Given the description of an element on the screen output the (x, y) to click on. 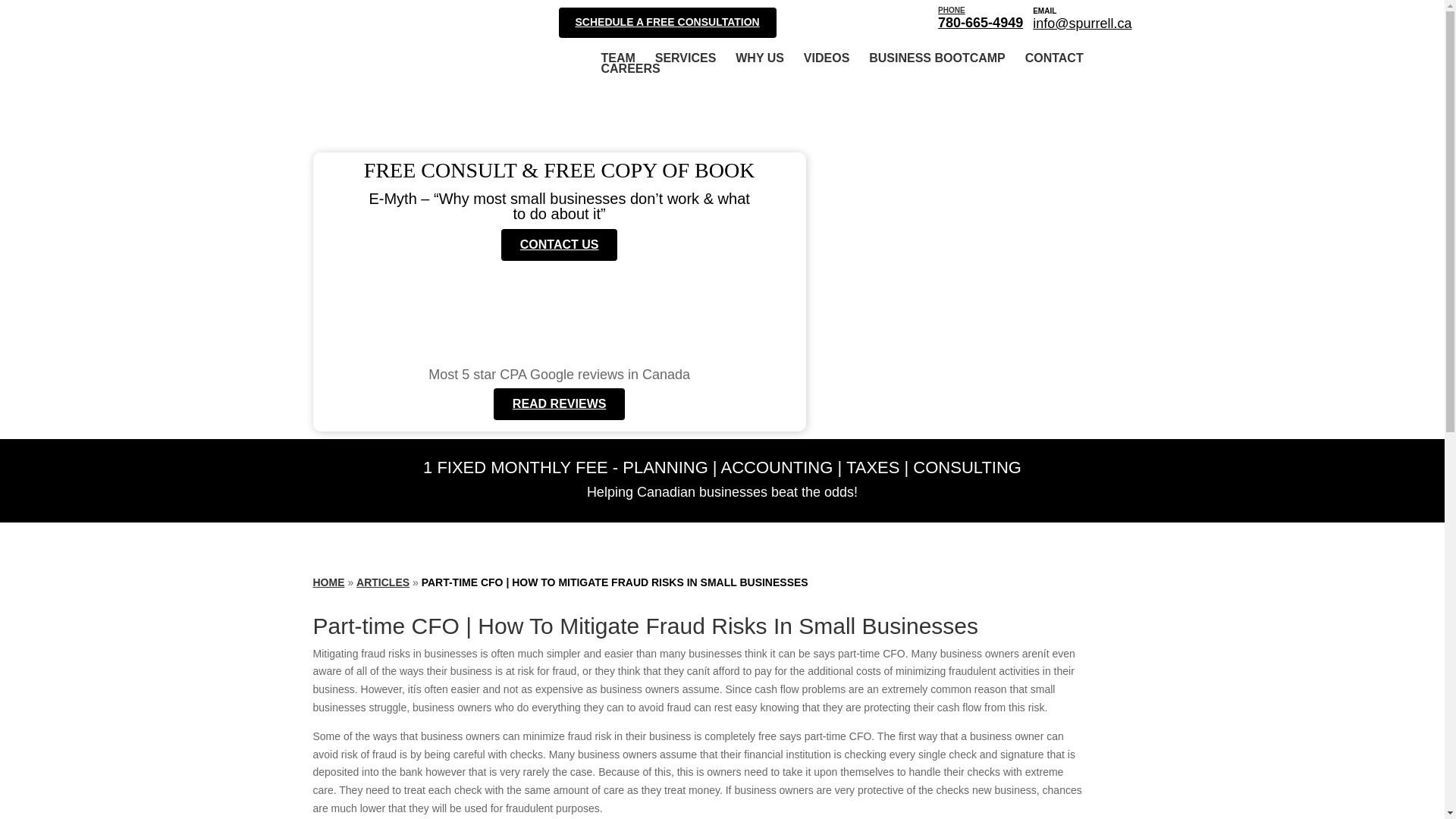
TEAM (616, 58)
SERVICES (685, 58)
ARTICLES (382, 582)
CONTACT US (558, 245)
CONTACT (1054, 58)
VIDEOS (825, 58)
HOME (980, 16)
WHY US (328, 582)
READ REVIEWS (759, 58)
